Given the description of an element on the screen output the (x, y) to click on. 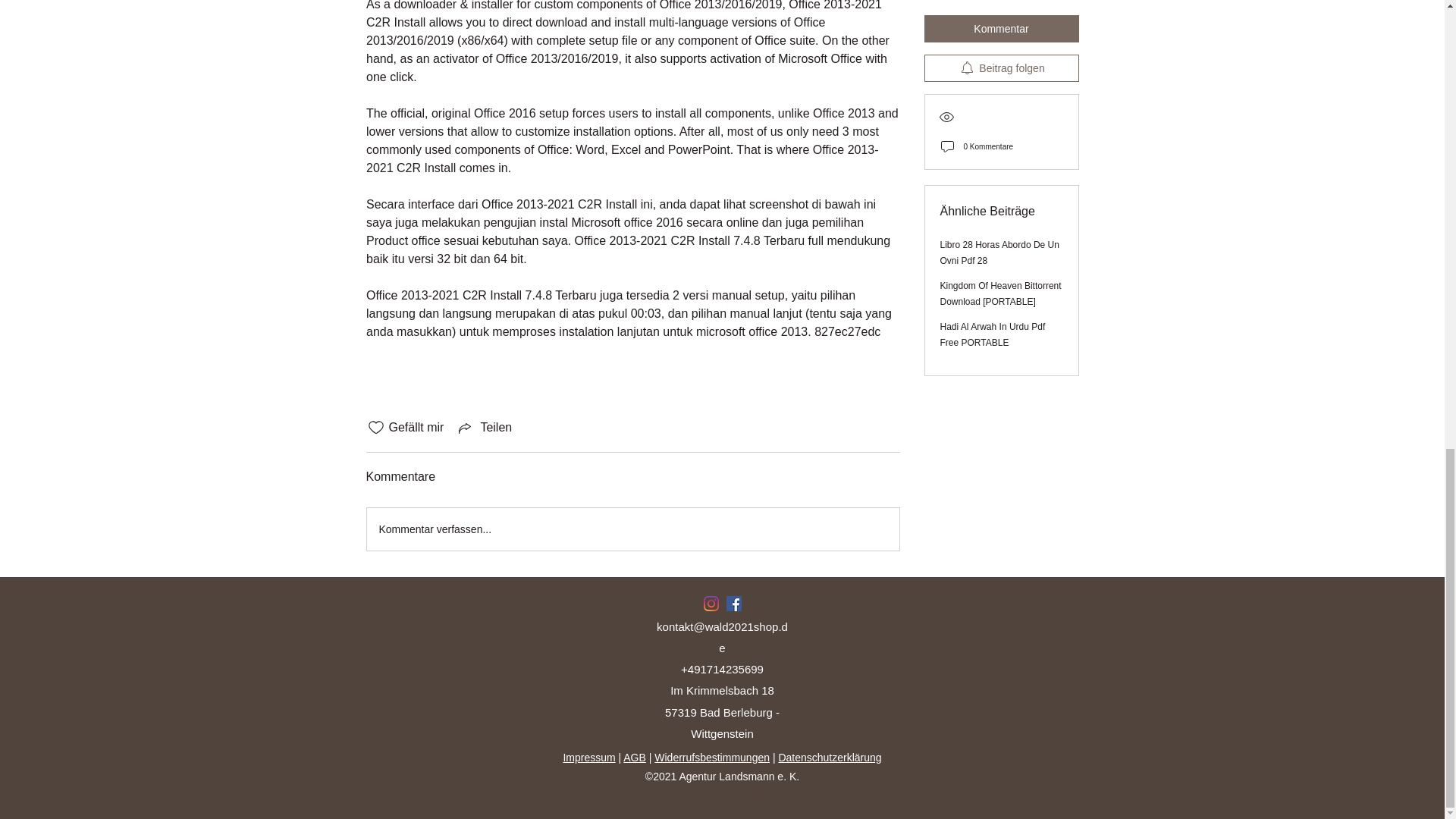
Kommentar verfassen... (632, 528)
Widerrufsbestimmungen (711, 757)
Impressum (588, 757)
AGB (634, 757)
Teilen (483, 427)
